Given the description of an element on the screen output the (x, y) to click on. 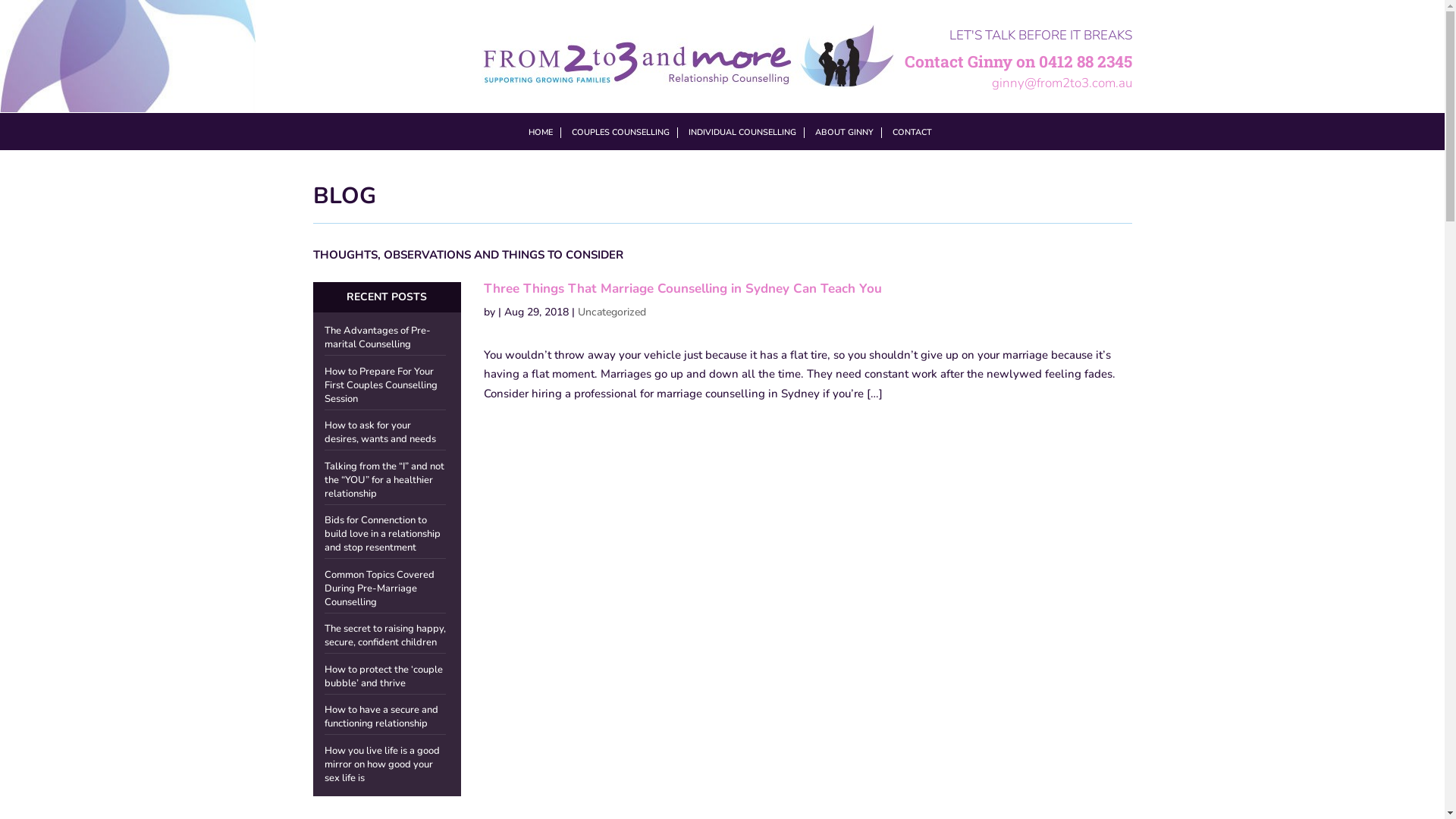
0412 88 2345 Element type: text (1085, 61)
ginny@from2to3.com.au Element type: text (1061, 82)
How to have a secure and functioning relationship Element type: text (381, 716)
INDIVIDUAL COUNSELLING Element type: text (742, 132)
ABOUT GINNY Element type: text (843, 132)
How to Prepare For Your First Couples Counselling Session Element type: text (380, 384)
The secret to raising happy, secure, confident children  Element type: text (384, 635)
CONTACT Element type: text (911, 132)
Common Topics Covered During Pre-Marriage Counselling Element type: text (379, 587)
COUPLES COUNSELLING Element type: text (620, 132)
How to ask for your desires, wants and needs Element type: text (380, 431)
HOME Element type: text (539, 132)
Uncategorized Element type: text (611, 311)
The Advantages of Pre-marital Counselling Element type: text (377, 337)
